Given the description of an element on the screen output the (x, y) to click on. 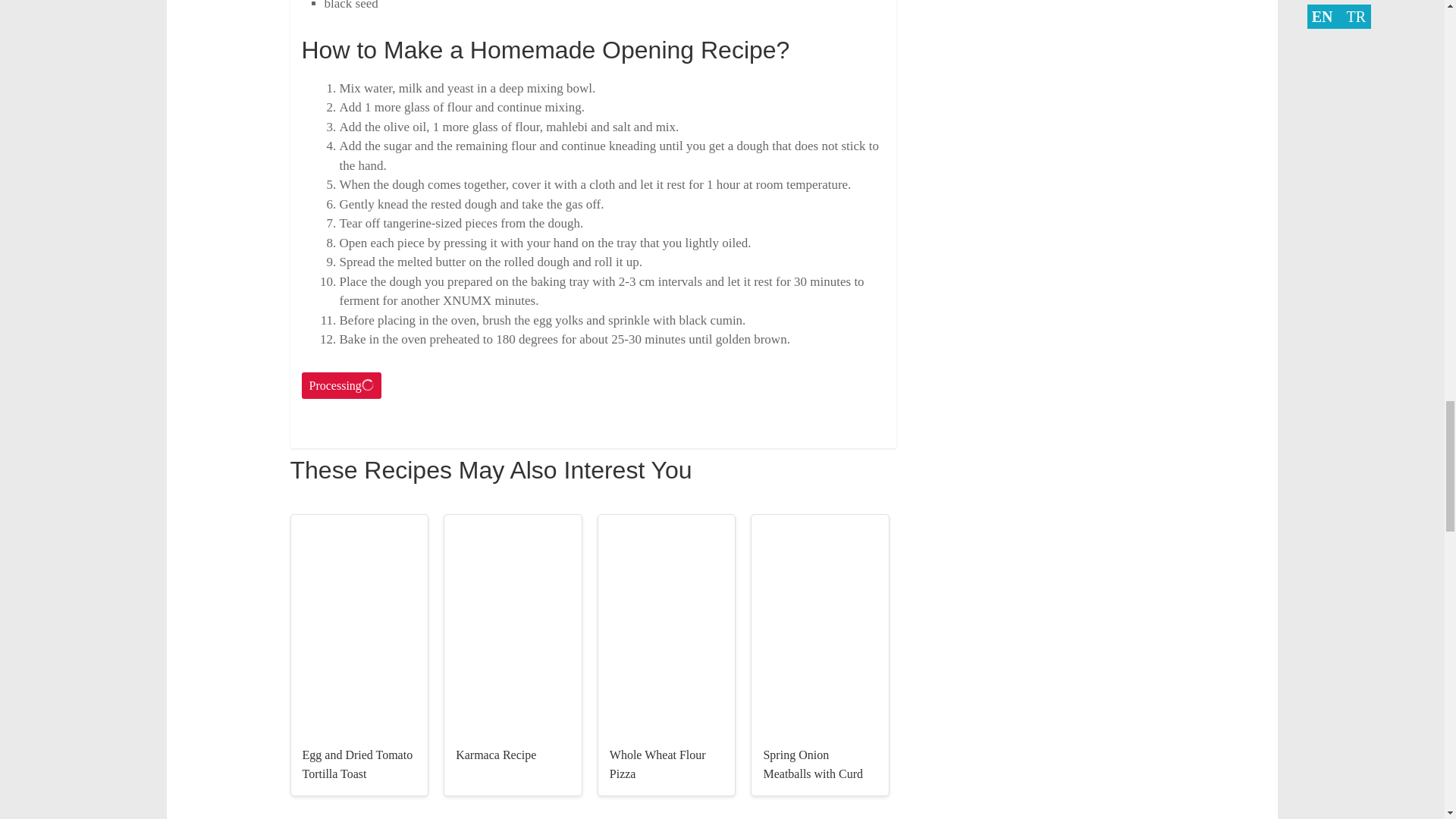
Spring Onion Meatballs with Curd (812, 764)
Karmaca Recipe (495, 754)
Whole Wheat Flour Pizza (658, 764)
Processing (341, 385)
Egg and Dried Tomato Tortilla Toast (356, 764)
